Given the description of an element on the screen output the (x, y) to click on. 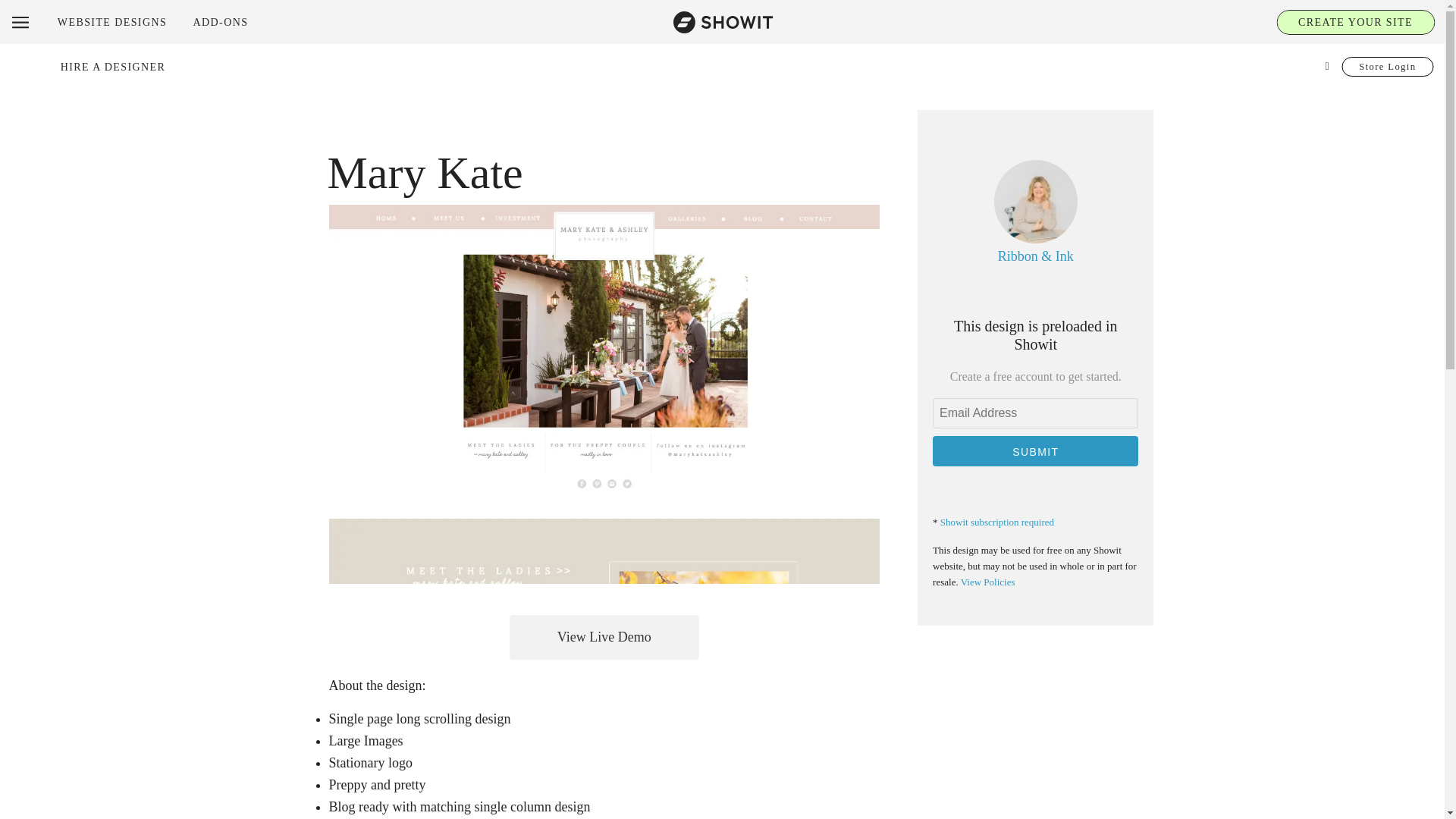
ADD-ONS (220, 21)
View Live Demo (603, 637)
Submit (1035, 450)
View Policies (987, 582)
Submit (1035, 450)
Store Login (1387, 66)
HIRE A DESIGNER (113, 66)
WEBSITE DESIGNS (111, 21)
Showit subscription required (997, 521)
